Given the description of an element on the screen output the (x, y) to click on. 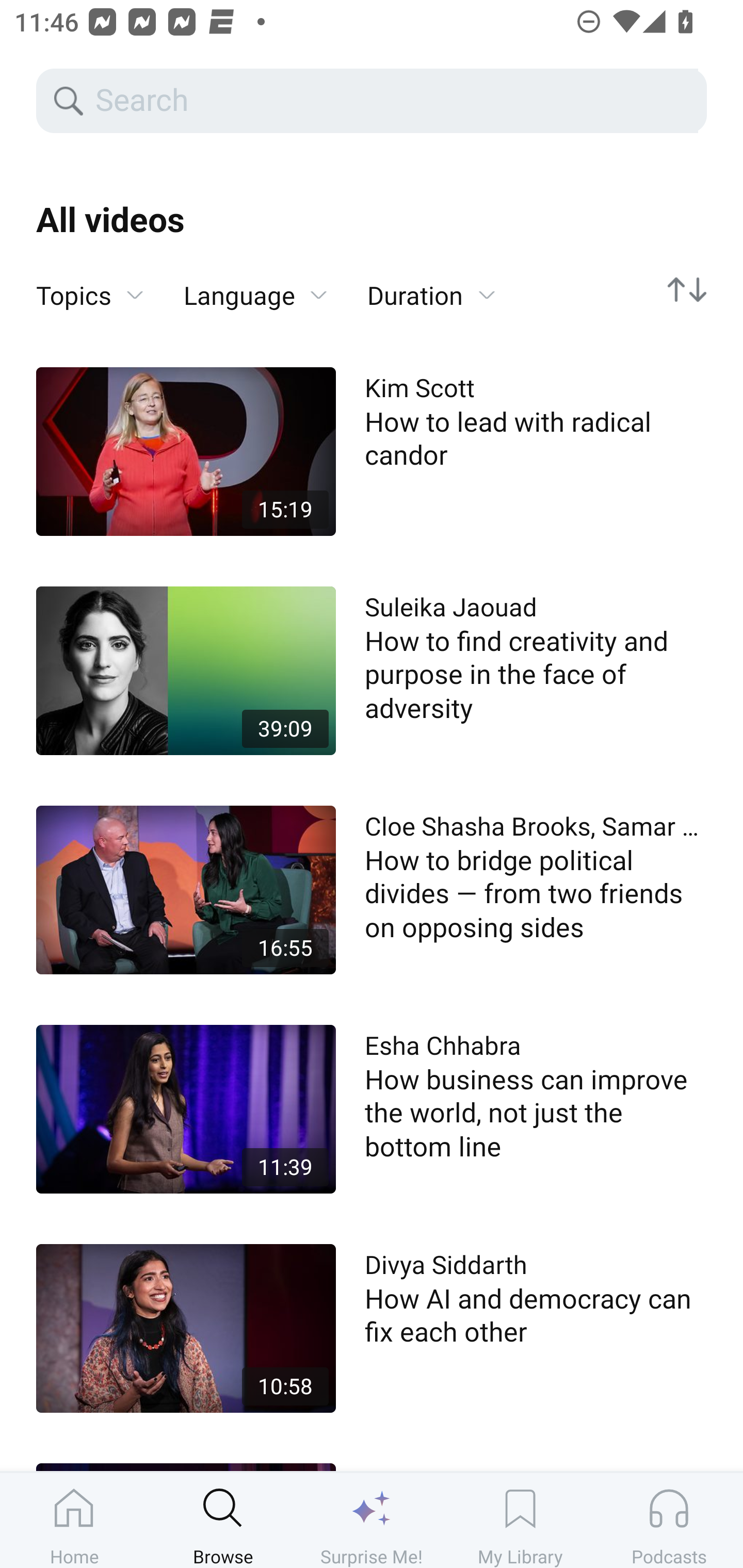
Search (395, 100)
Topics (90, 295)
Language (255, 295)
Duration (431, 295)
15:19 Kim Scott How to lead with radical candor (371, 451)
Home (74, 1520)
Browse (222, 1520)
Surprise Me! (371, 1520)
My Library (519, 1520)
Podcasts (668, 1520)
